Given the description of an element on the screen output the (x, y) to click on. 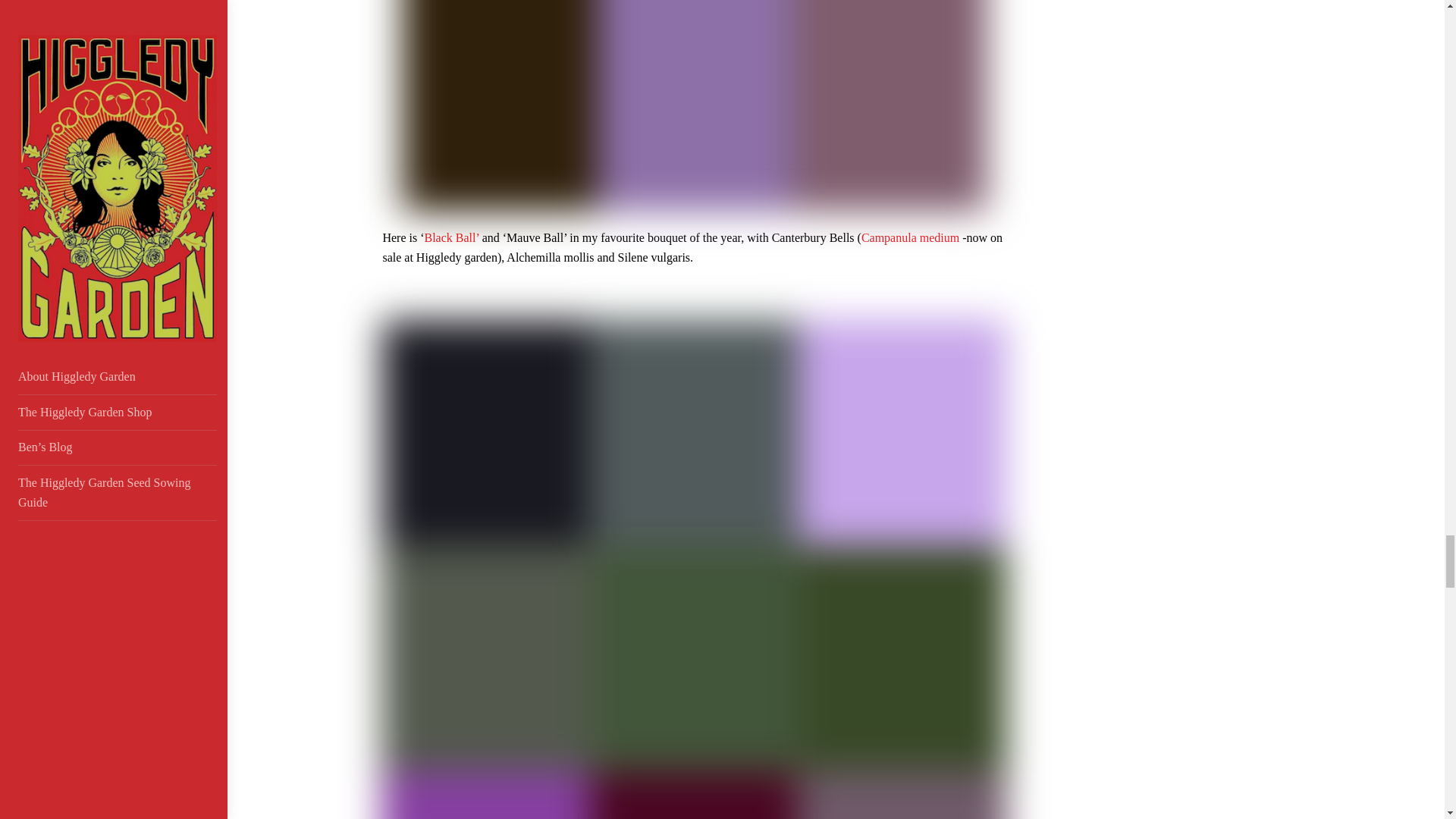
Campanula medium (910, 237)
